Given the description of an element on the screen output the (x, y) to click on. 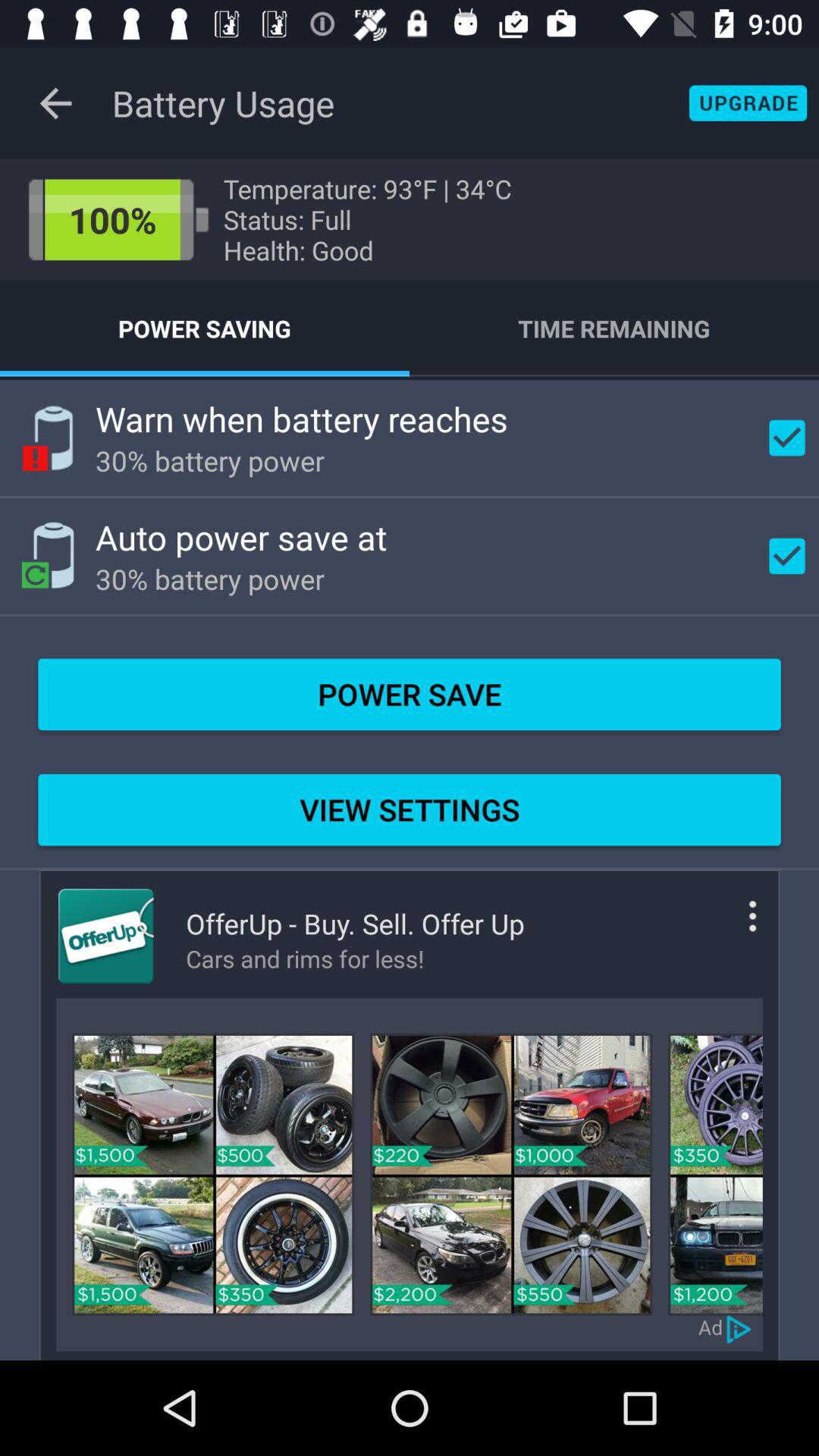
click on the button which is above the view settings (409, 694)
